Given the description of an element on the screen output the (x, y) to click on. 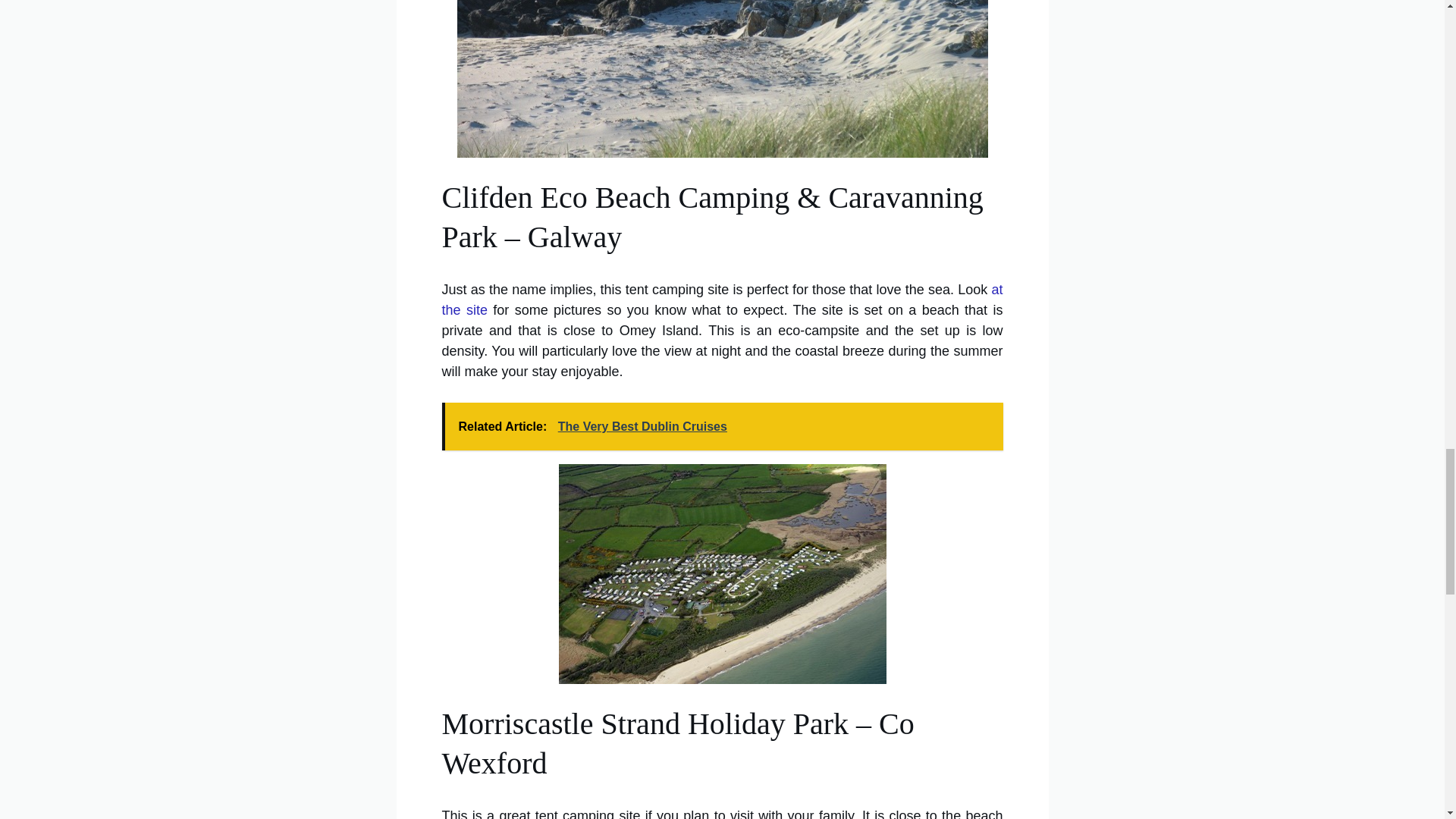
at the site (722, 299)
Related Article:   The Very Best Dublin Cruises (722, 426)
